Given the description of an element on the screen output the (x, y) to click on. 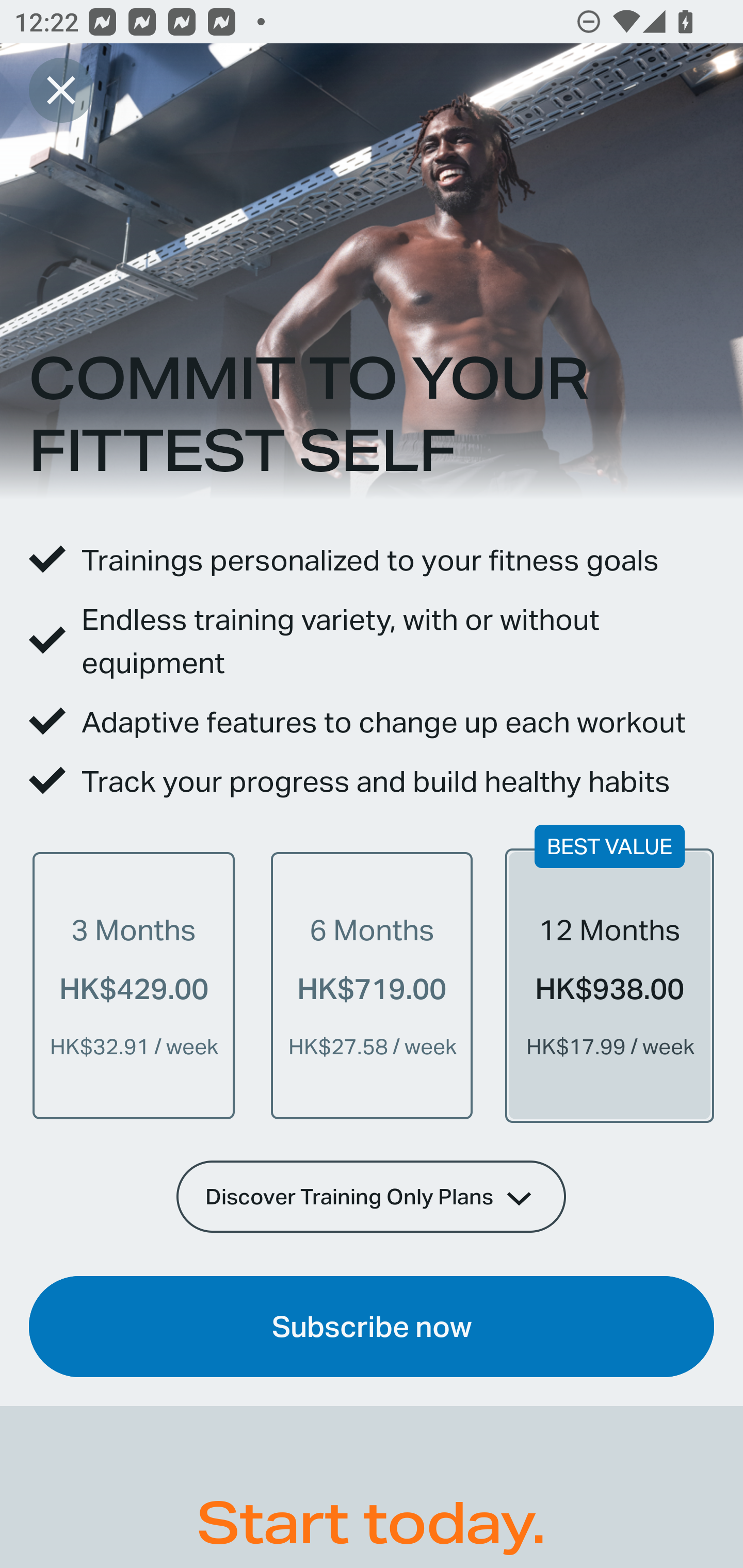
Close (60, 90)
3 Months HK$429.00 HK$32.91 / week (133, 985)
6 Months HK$719.00 HK$27.58 / week (371, 985)
12 Months HK$938.00 HK$17.99 / week (609, 985)
Discover Training Only Plans (371, 1196)
Subscribe now (371, 1326)
